Given the description of an element on the screen output the (x, y) to click on. 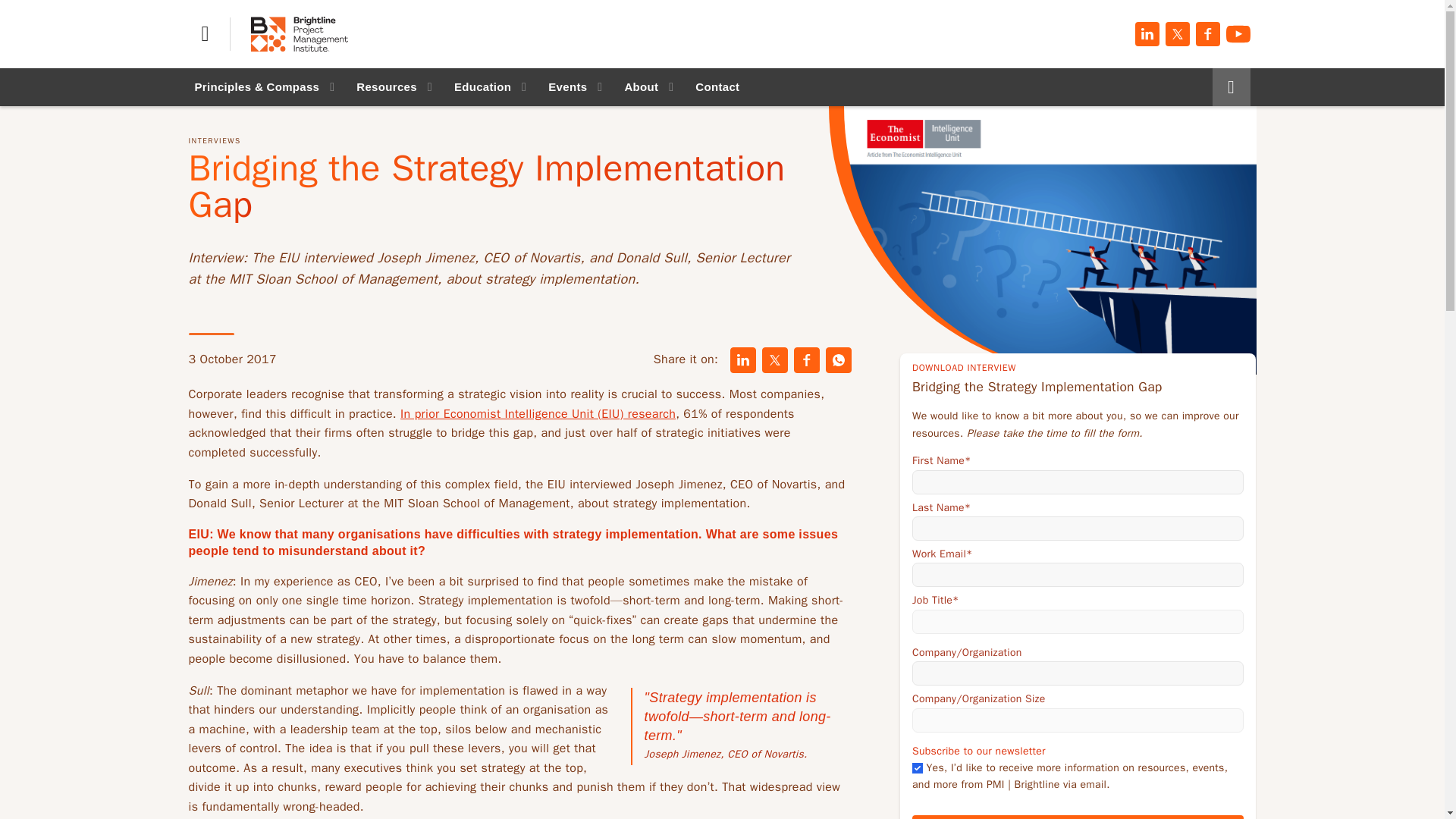
Share on Whatsapp (838, 360)
Share on LinkedIn (742, 360)
Share on Facebook (806, 360)
Go to our Youtube channel (1237, 33)
Follow us on Facebook (1207, 33)
Share on X (774, 360)
Follow us on LinkedIn (1146, 33)
Follow us on X (1176, 33)
